Given the description of an element on the screen output the (x, y) to click on. 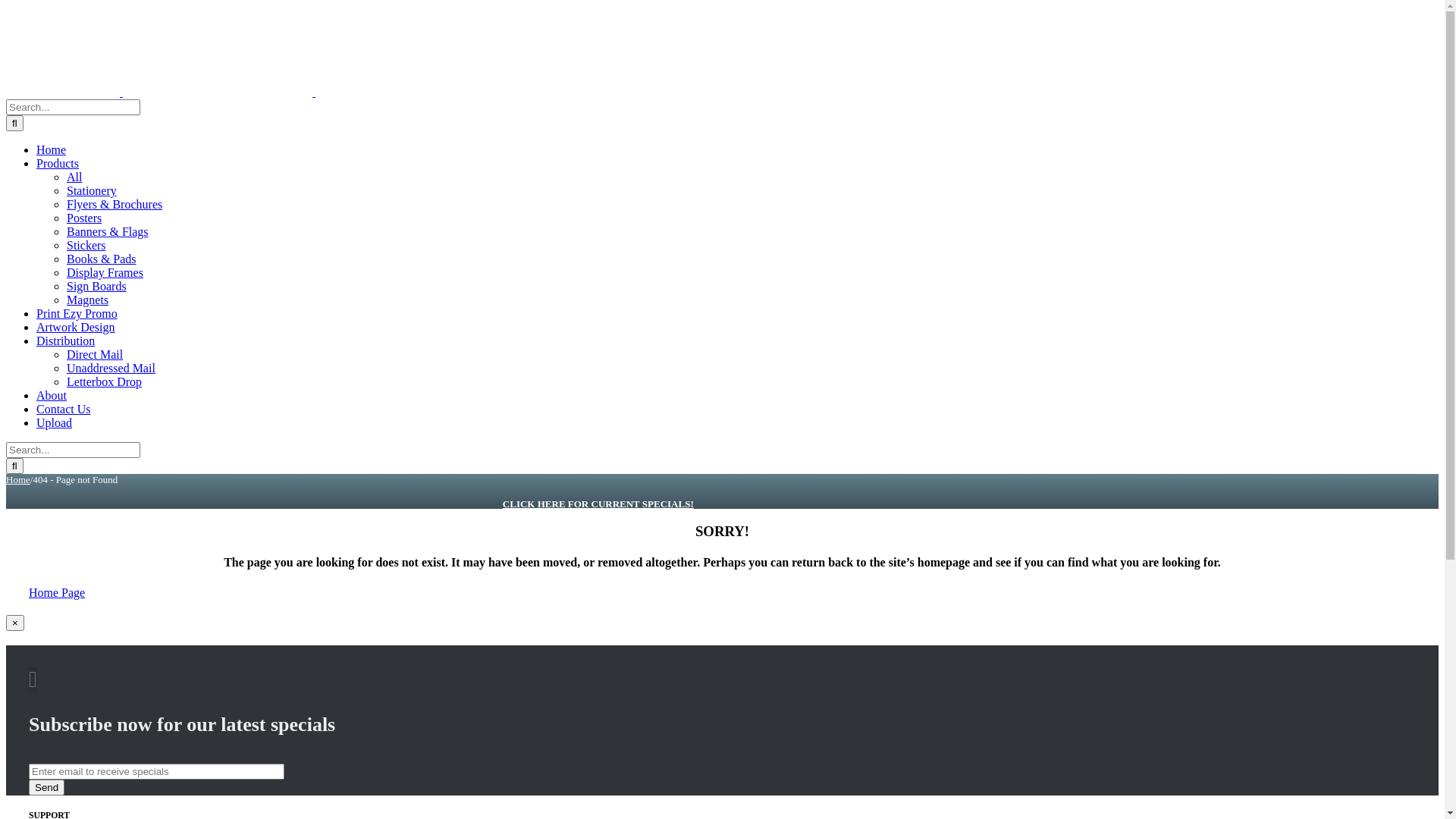
Artwork Design Element type: text (75, 326)
Flyers & Brochures Element type: text (114, 203)
Banners & Flags Element type: text (107, 231)
Unaddressed Mail Element type: text (110, 367)
Home Element type: text (50, 149)
Stationery Element type: text (91, 190)
Books & Pads Element type: text (101, 258)
Skip to content Element type: text (5, 5)
Contact Us Element type: text (63, 408)
Stickers Element type: text (86, 244)
All Element type: text (73, 176)
Products Element type: text (57, 162)
Upload Element type: text (54, 422)
Direct Mail Element type: text (94, 354)
Home Page Element type: text (56, 592)
About Element type: text (51, 395)
Home Element type: text (18, 479)
Distribution Element type: text (65, 340)
CLICK HERE FOR CURRENT SPECIALS! Element type: text (597, 503)
Send Element type: text (46, 787)
Print Ezy Promo Element type: text (76, 313)
Display Frames Element type: text (104, 272)
Posters Element type: text (83, 217)
Sign Boards Element type: text (96, 285)
Letterbox Drop Element type: text (103, 381)
Magnets Element type: text (87, 299)
